Given the description of an element on the screen output the (x, y) to click on. 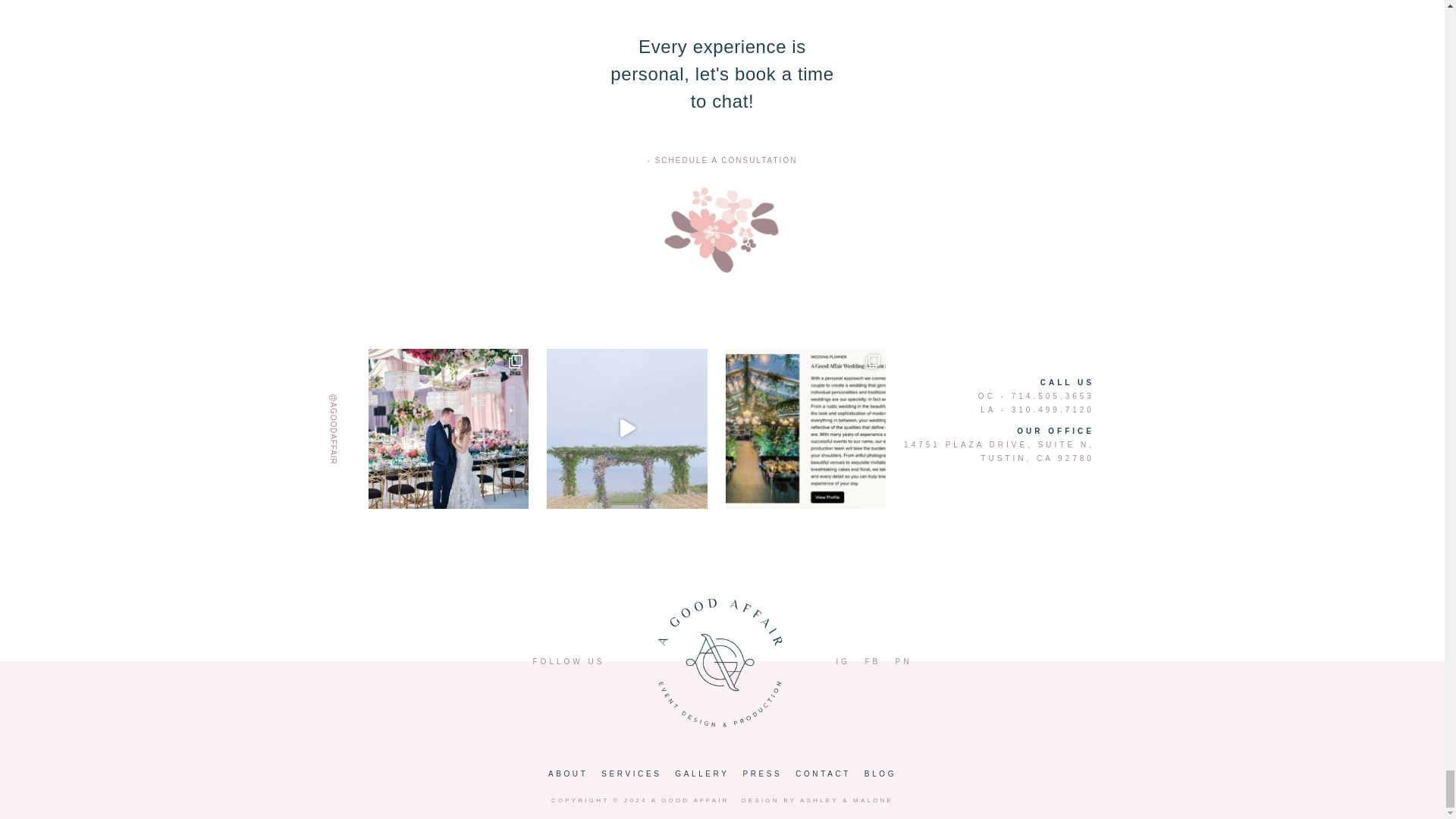
PN (903, 661)
CONTACT (823, 774)
BLOG (880, 774)
GALLERY (702, 774)
SERVICES (630, 774)
PRESS (761, 774)
- SCHEDULE A CONSULTATION (721, 160)
FB (872, 661)
ABOUT (566, 774)
IG (842, 661)
